Given the description of an element on the screen output the (x, y) to click on. 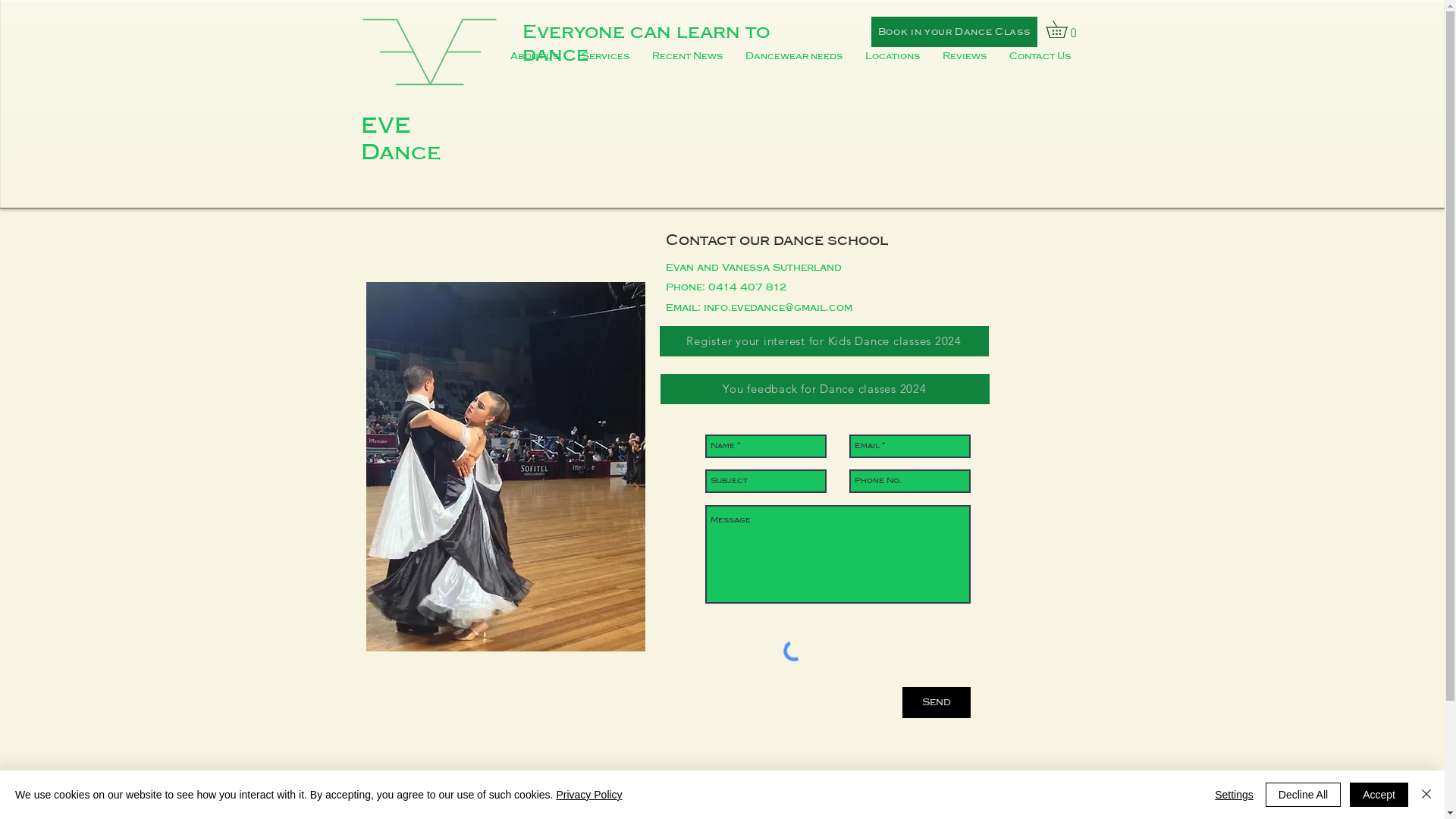
Decline All Element type: text (1302, 794)
Accept Element type: text (1378, 794)
Recent News Element type: text (686, 55)
Dancewear needs Element type: text (793, 55)
Register your interest for Kids Dance classes 2024 Element type: text (823, 341)
Everyone can learn to dance  Element type: text (644, 42)
EVE Dance  Element type: text (403, 138)
Privacy Policy Element type: text (588, 794)
Locations Element type: text (892, 55)
Book in your Dance Class Element type: text (953, 31)
Reviews Element type: text (964, 55)
Send Element type: text (936, 702)
Services Element type: text (605, 55)
You feedback for Dance classes 2024 Element type: text (823, 388)
info.evedance@gmail.com Element type: text (777, 307)
About us Element type: text (534, 55)
Contact Us Element type: text (1039, 55)
0 Element type: text (1063, 28)
